Given the description of an element on the screen output the (x, y) to click on. 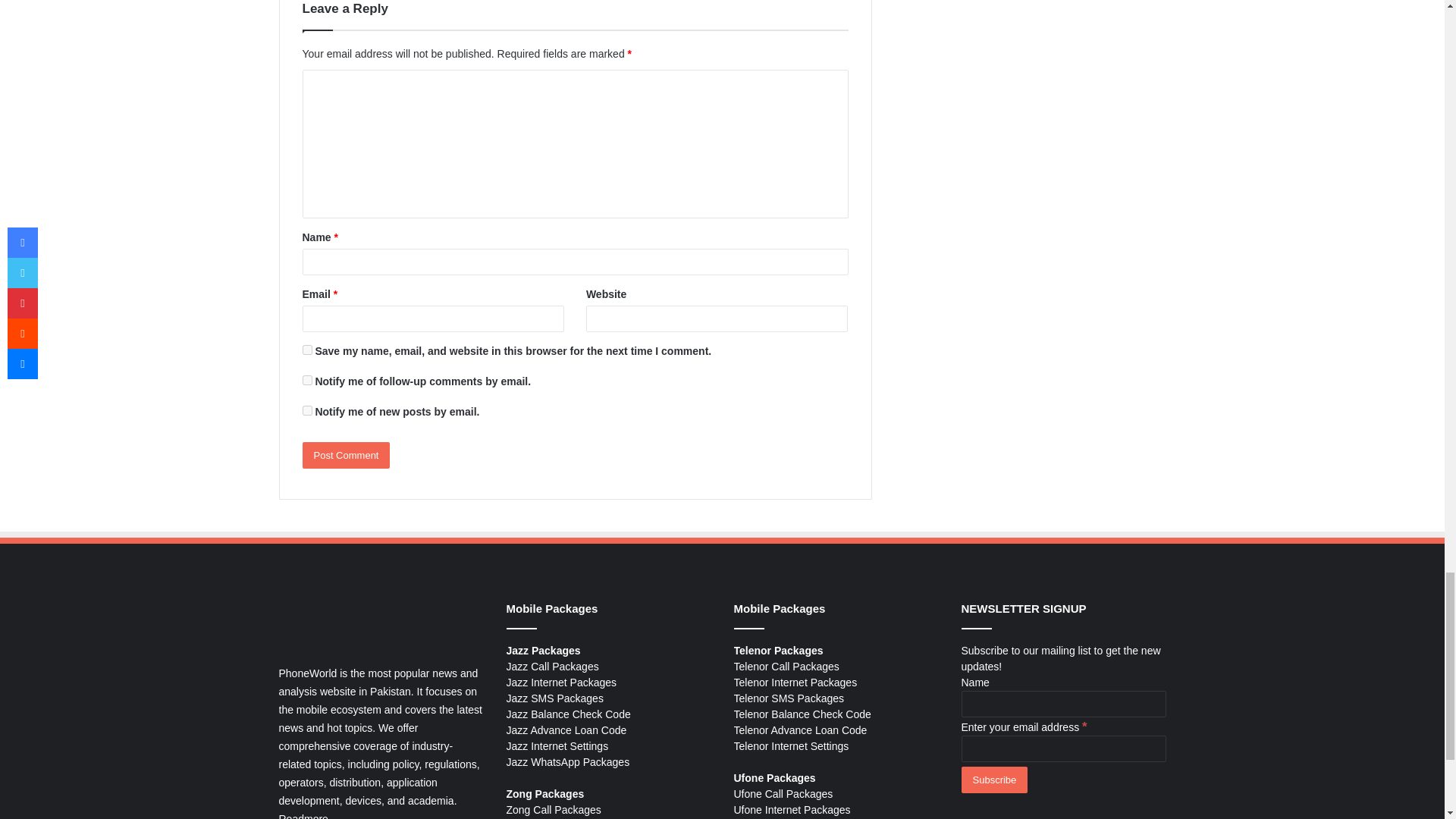
subscribe (306, 410)
Post Comment (345, 455)
yes (306, 349)
Subscribe (993, 779)
subscribe (306, 379)
